Given the description of an element on the screen output the (x, y) to click on. 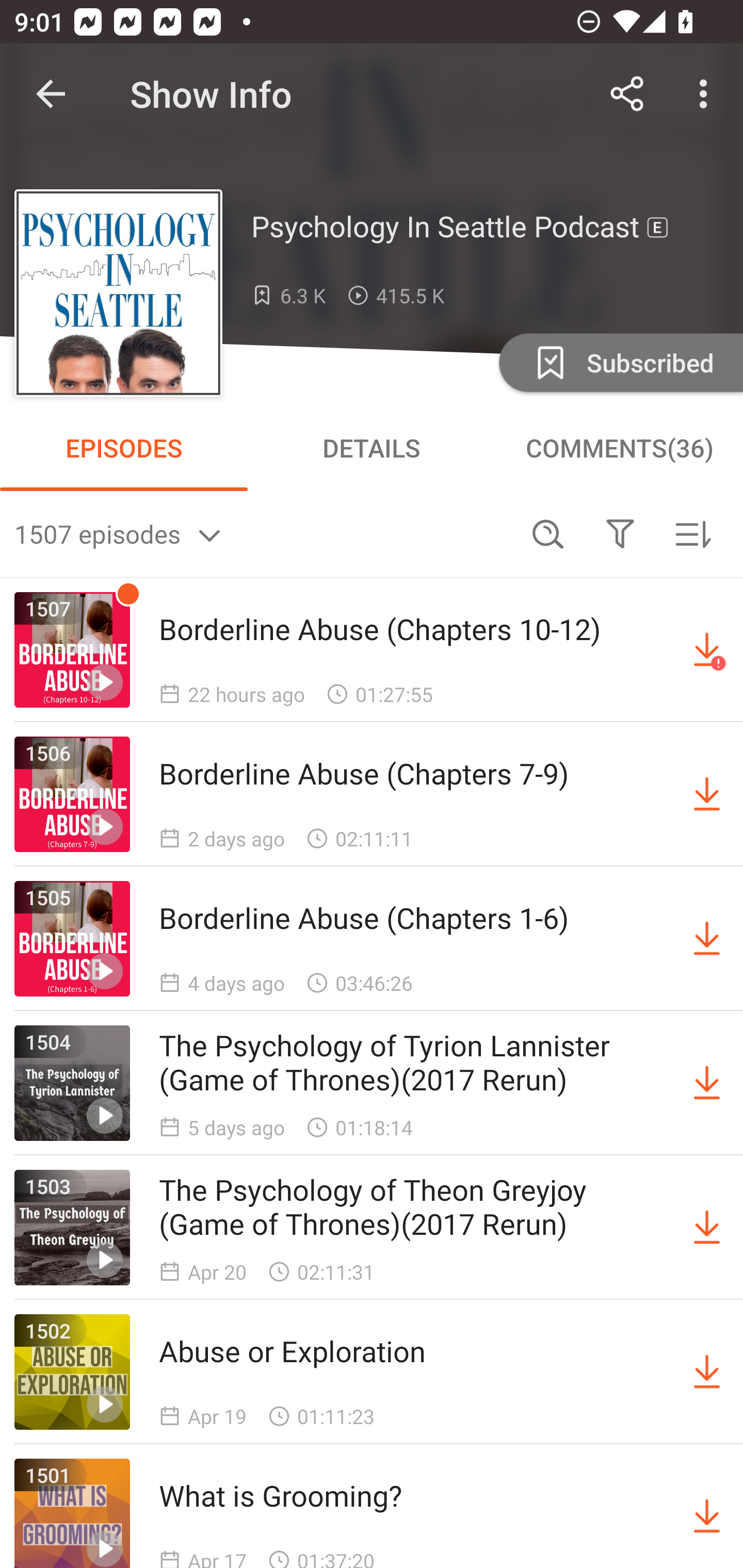
Navigate up (50, 93)
Share (626, 93)
More options (706, 93)
Unsubscribe Subscribed (619, 361)
EPISODES (123, 447)
DETAILS (371, 447)
COMMENTS(36) (619, 447)
1507 episodes  (262, 533)
 Search (547, 533)
 (619, 533)
 Sorted by newest first (692, 533)
Download failed (706, 649)
Download (706, 793)
Download (706, 939)
Download (706, 1083)
Download (706, 1227)
Download (706, 1371)
Download (706, 1513)
